Given the description of an element on the screen output the (x, y) to click on. 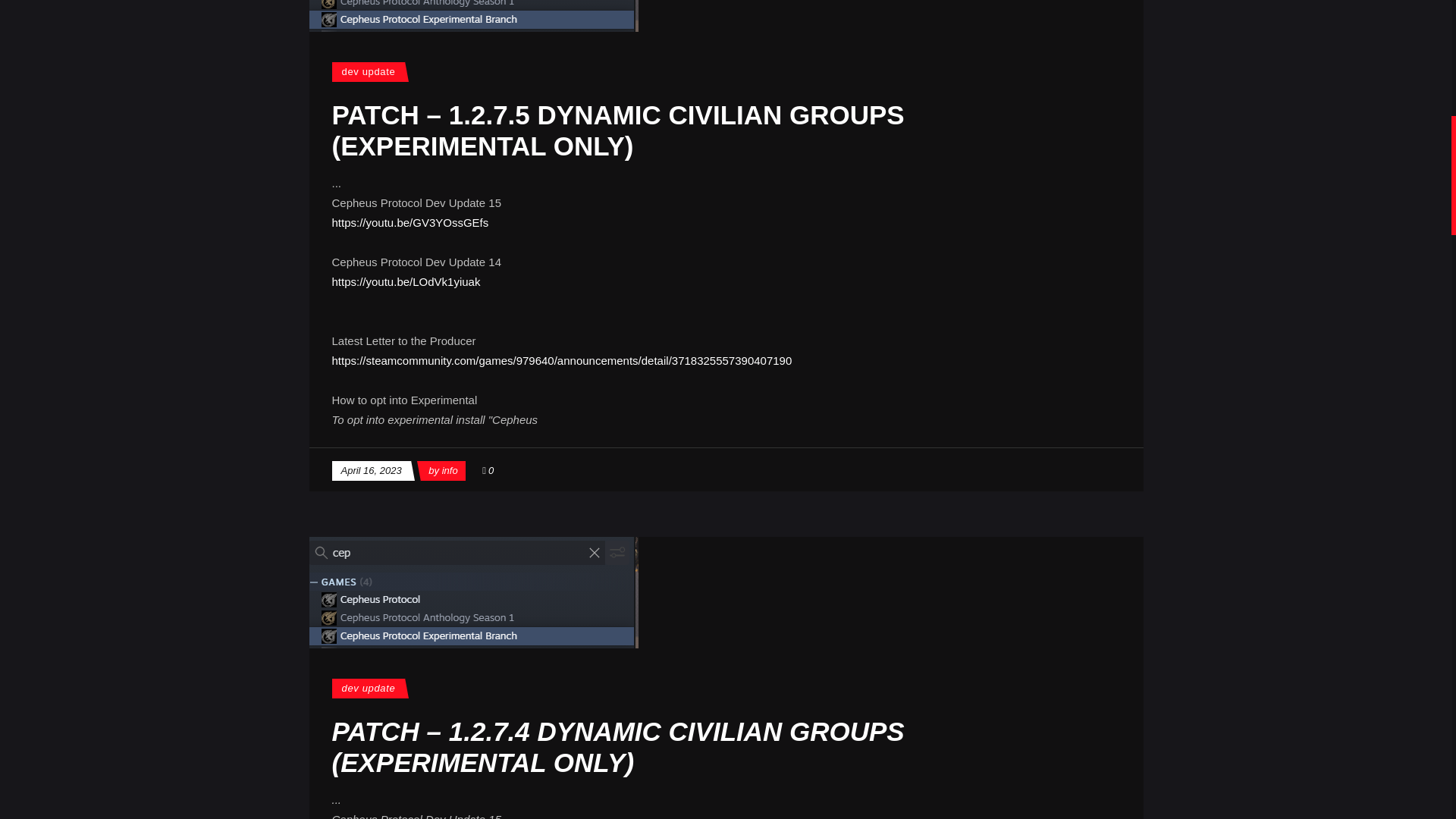
Like this (487, 470)
